Given the description of an element on the screen output the (x, y) to click on. 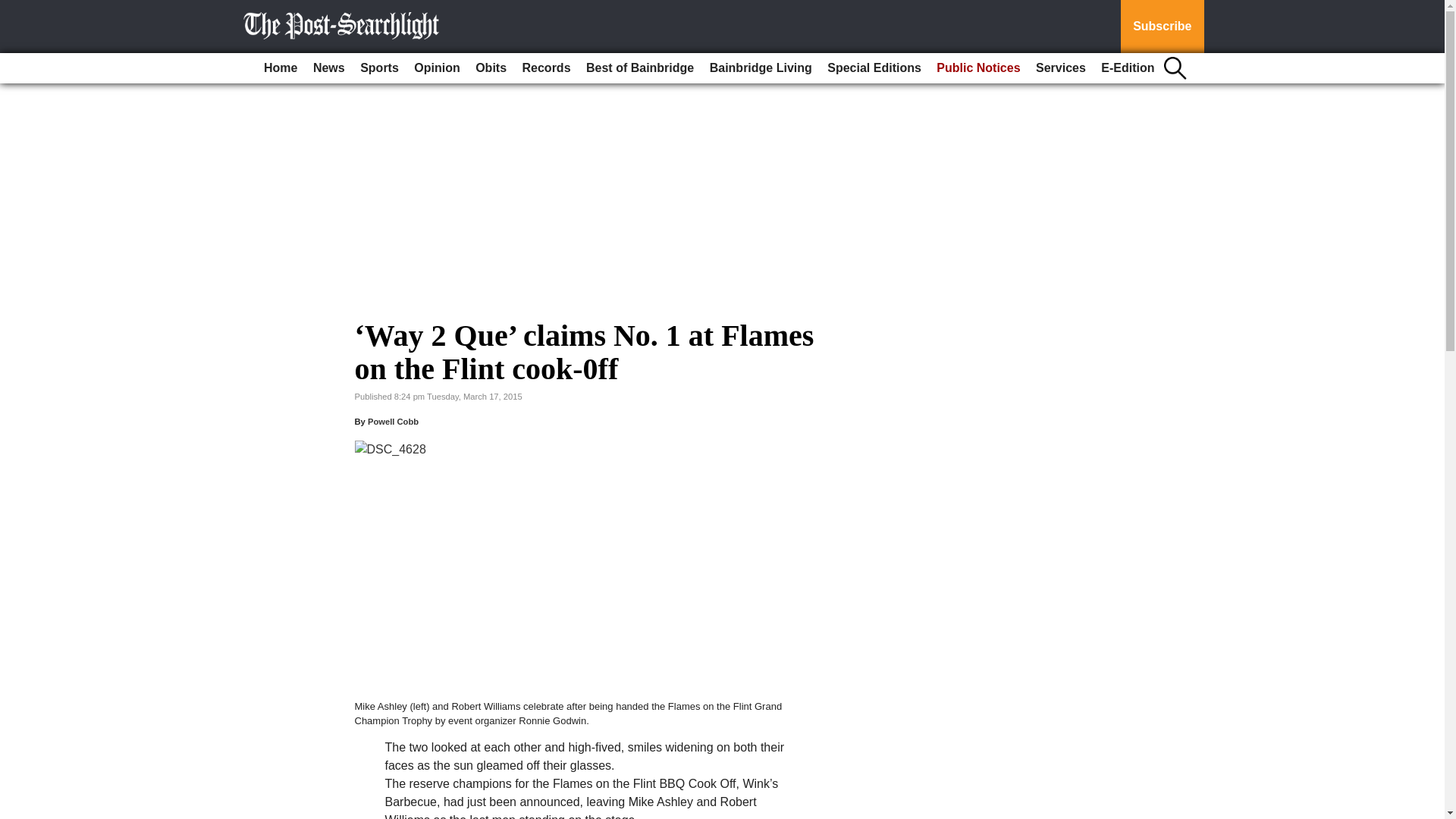
News (328, 68)
Records (546, 68)
Home (279, 68)
Services (1060, 68)
Powell Cobb (393, 420)
Special Editions (874, 68)
Subscribe (1162, 26)
Best of Bainbridge (639, 68)
Obits (490, 68)
Public Notices (978, 68)
Opinion (436, 68)
E-Edition (1127, 68)
Go (13, 9)
Sports (378, 68)
Bainbridge Living (760, 68)
